Given the description of an element on the screen output the (x, y) to click on. 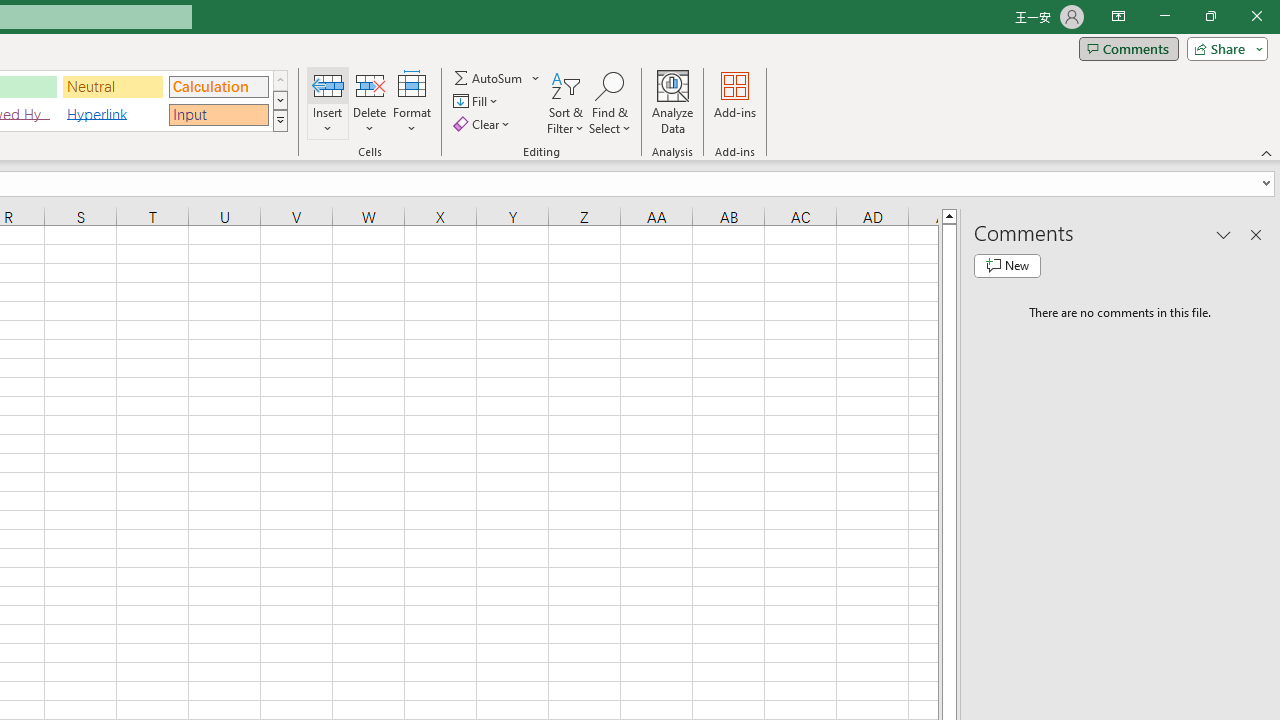
Close pane (1256, 234)
Insert (328, 102)
Format (411, 102)
Cell Styles (280, 120)
Class: NetUIImage (280, 120)
Collapse the Ribbon (1267, 152)
AutoSum (497, 78)
Line up (948, 215)
Sum (489, 78)
Hyperlink (113, 114)
Fill (477, 101)
Analyze Data (673, 102)
Find & Select (610, 102)
Row up (280, 79)
